Given the description of an element on the screen output the (x, y) to click on. 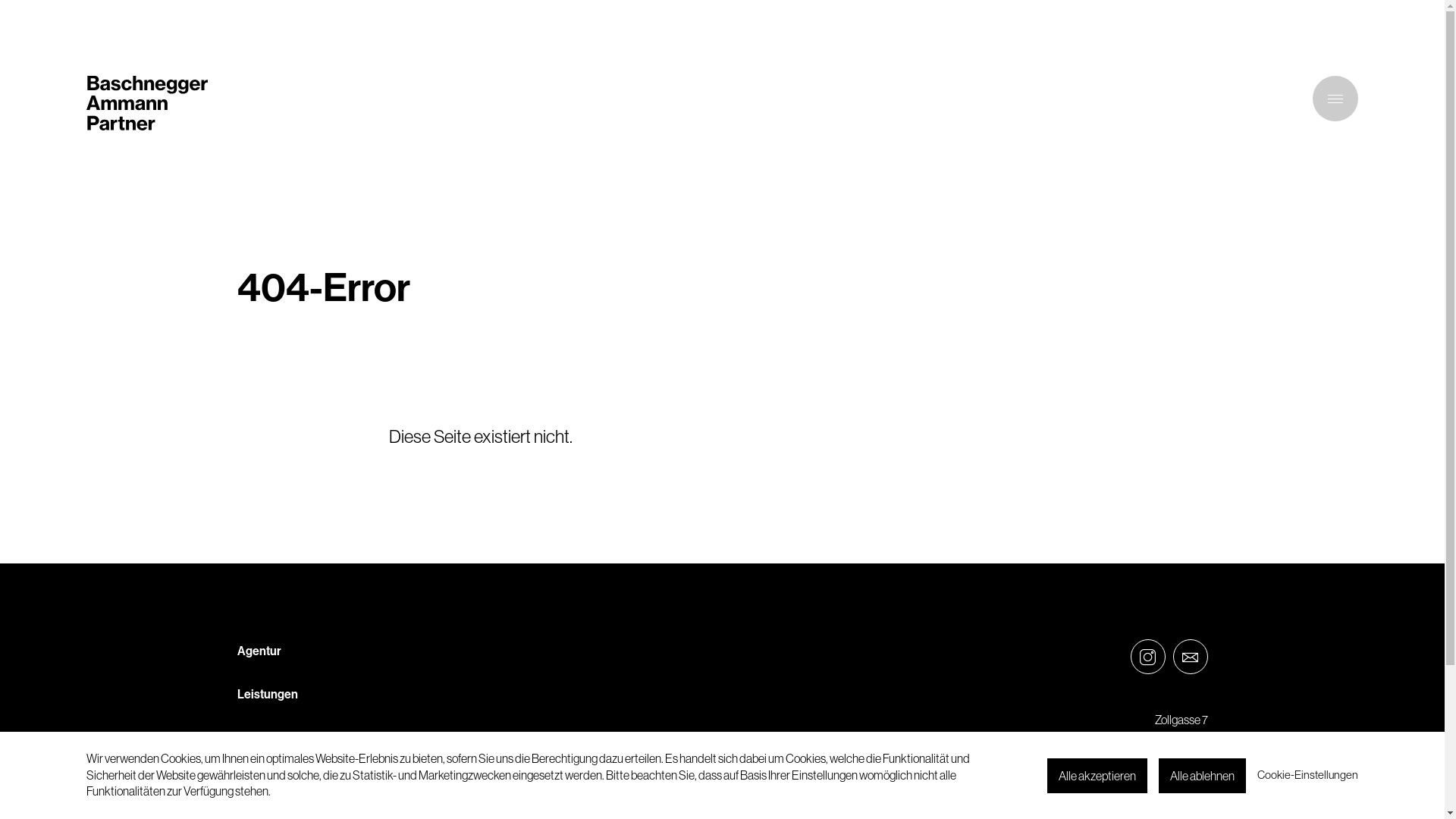
Referenzen Element type: text (267, 735)
Blog Element type: text (248, 779)
Alle ablehnen Element type: text (1201, 775)
office@bap.cc Element type: text (1173, 751)
Leistungen Element type: text (266, 693)
Cookie-Einstellungen Element type: text (1307, 775)
+43 5572 3755 Element type: text (1172, 768)
Agentur Element type: text (258, 650)
Alle akzeptieren Element type: text (1097, 775)
